Given the description of an element on the screen output the (x, y) to click on. 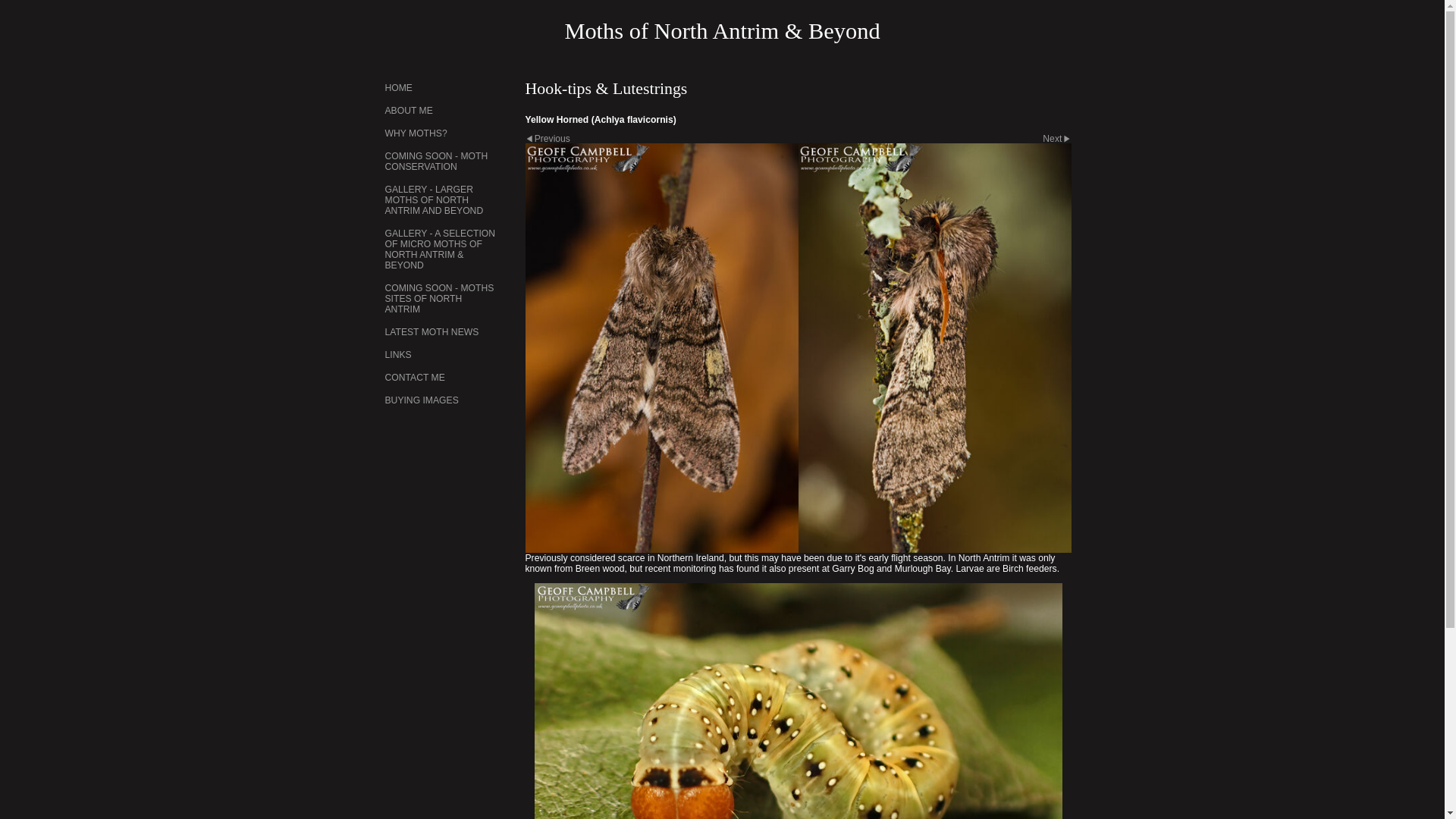
COMING SOON - MOTHS SITES OF NORTH ANTRIM (440, 298)
HOME (440, 87)
WHY MOTHS? (440, 133)
ABOUT ME (440, 110)
GALLERY - LARGER MOTHS OF NORTH ANTRIM AND BEYOND (440, 199)
COMING SOON - MOTH CONSERVATION (440, 161)
